Given the description of an element on the screen output the (x, y) to click on. 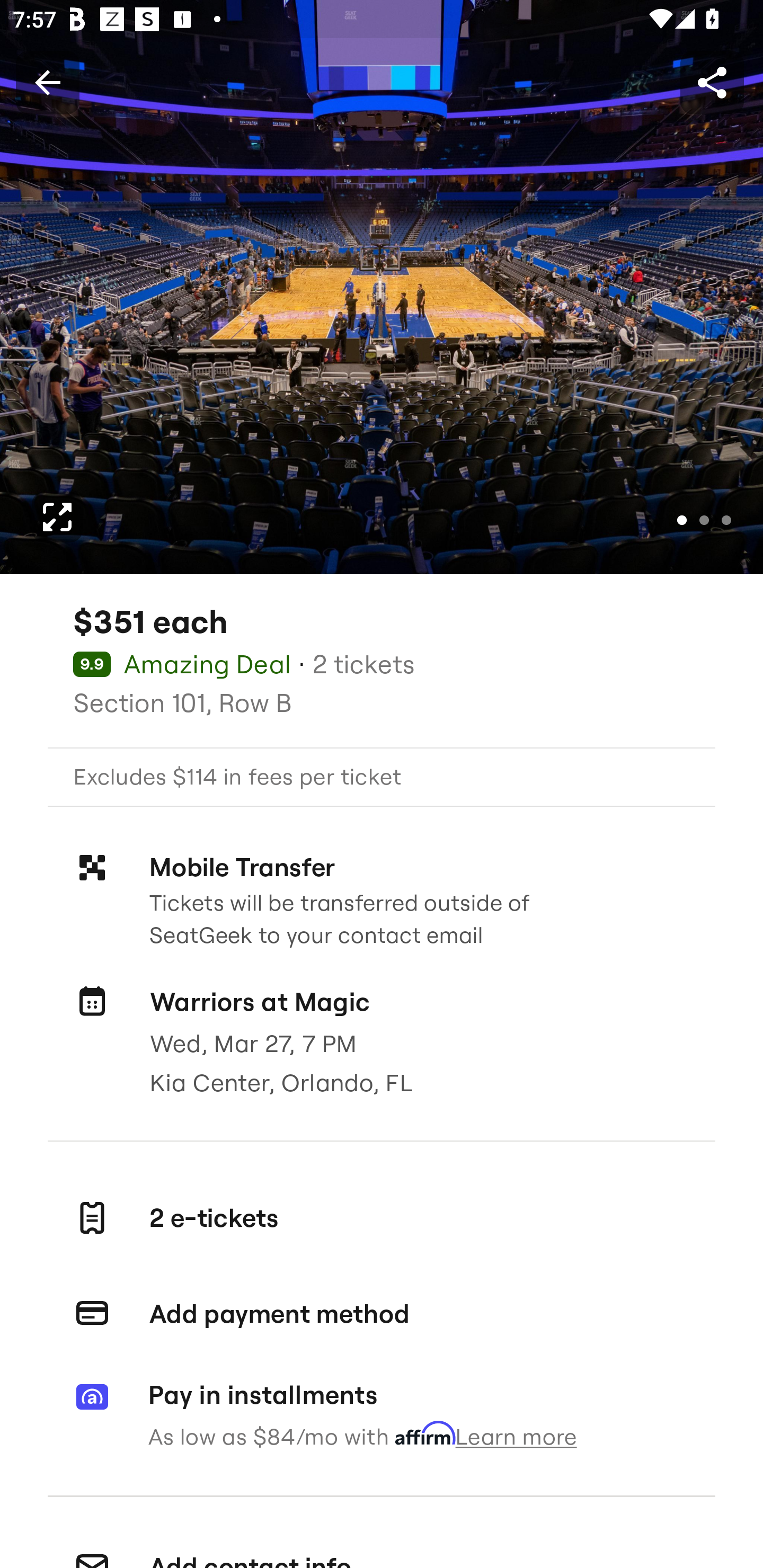
Back (47, 81)
Share (711, 81)
Expand image to fullscreen (57, 517)
2 e-tickets (381, 1217)
Add payment method (381, 1313)
